Given the description of an element on the screen output the (x, y) to click on. 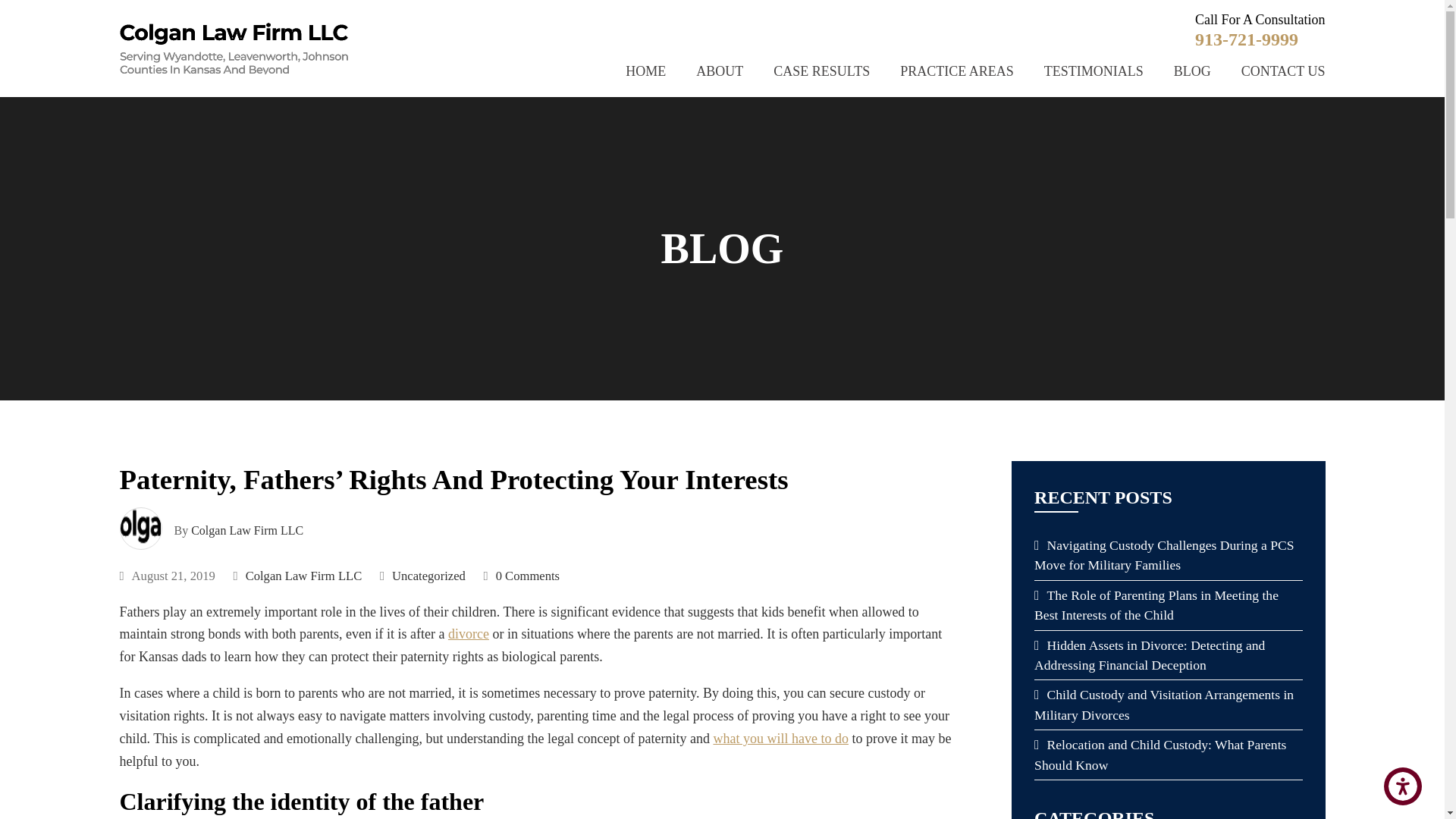
Posts by Colgan Law Firm LLC (304, 575)
0 Comments (521, 576)
913-721-9999 (1246, 38)
CONTACT US (1282, 71)
Posts by Colgan Law Firm LLC (246, 530)
ABOUT (718, 71)
HOME (645, 71)
BLOG (1192, 71)
TESTIMONIALS (1092, 71)
PRACTICE AREAS (956, 71)
